Given the description of an element on the screen output the (x, y) to click on. 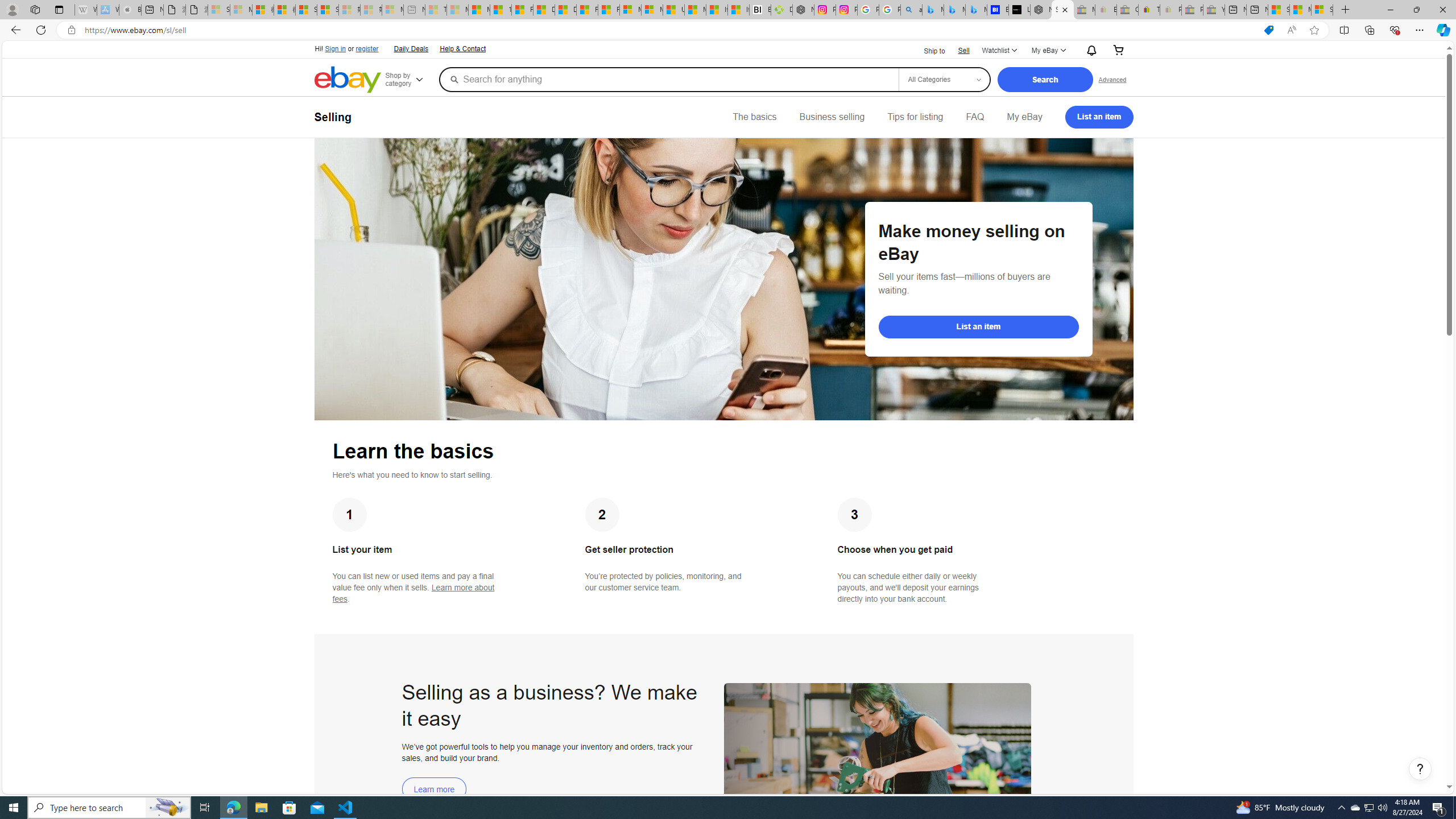
Buy iPad - Apple - Sleeping (130, 9)
Help & Contact (462, 49)
Daily Deals (410, 48)
List an item (977, 326)
Select a category for search (944, 78)
Ship to (927, 50)
Sell (963, 49)
Selling on eBay | Electronics, Fashion, Home & Garden | eBay (1062, 9)
Watchlist (998, 50)
Microsoft Bing Travel - Flights from Hong Kong to Bangkok (933, 9)
